Given the description of an element on the screen output the (x, y) to click on. 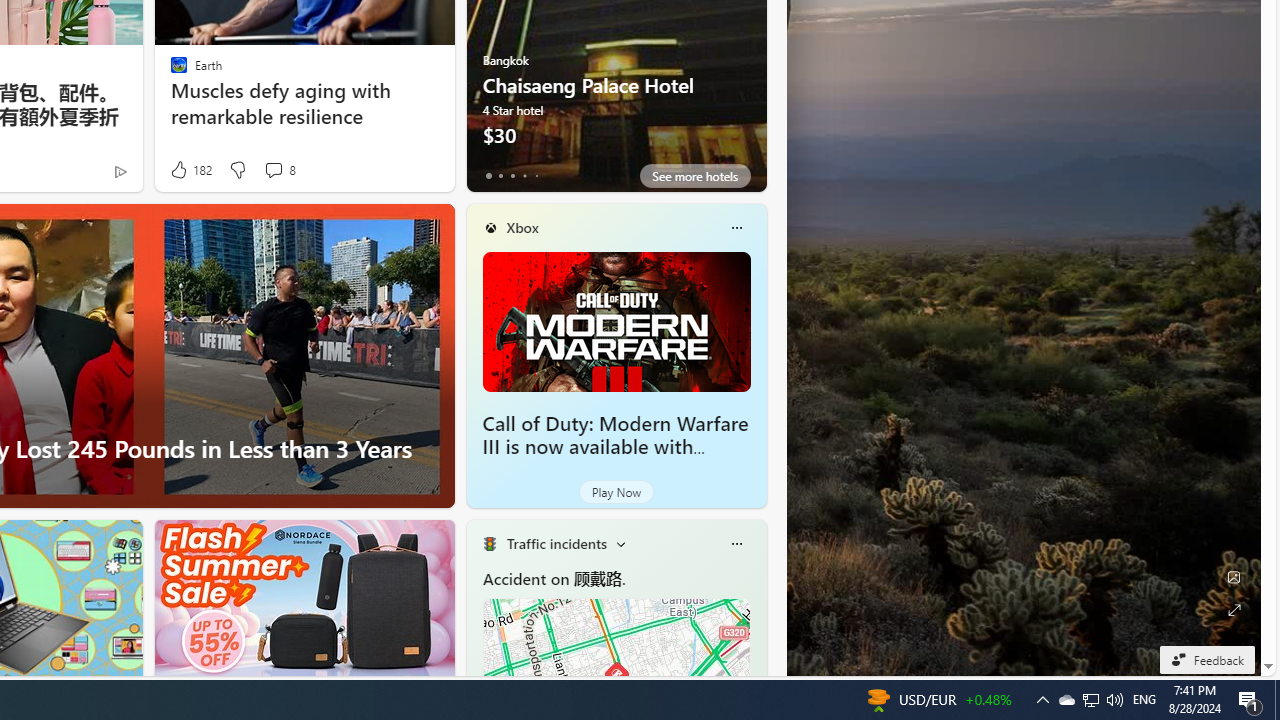
View comments 8 Comment (273, 169)
Traffic incidents (555, 543)
Edit Background (1233, 577)
tab-3 (524, 175)
Change scenarios (620, 543)
Ad Choice (119, 171)
See more hotels (694, 175)
tab-1 (500, 175)
Expand background (1233, 610)
